Given the description of an element on the screen output the (x, y) to click on. 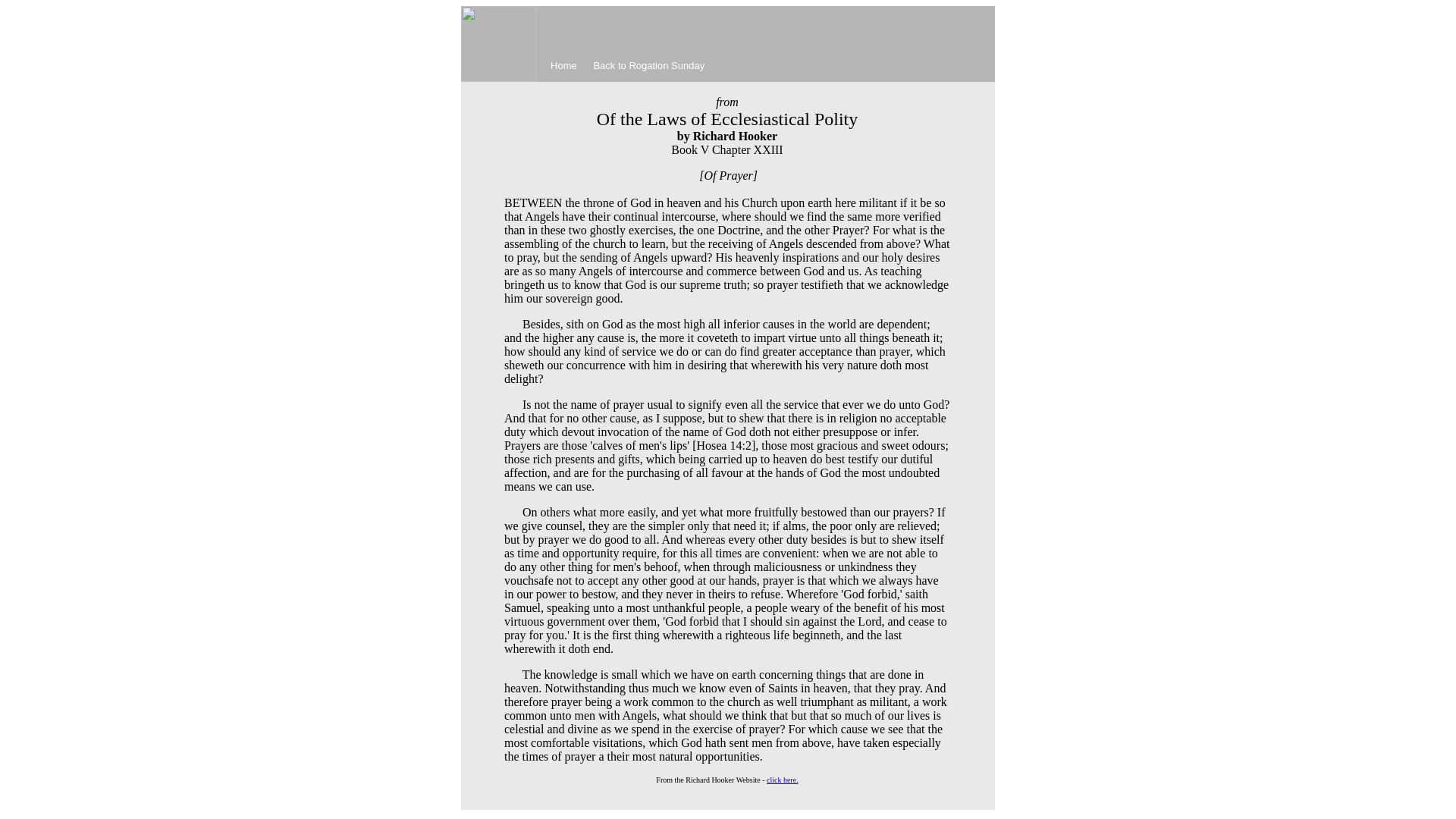
Back to Rogation Sunday (648, 65)
click here. (782, 779)
Home (563, 65)
